Given the description of an element on the screen output the (x, y) to click on. 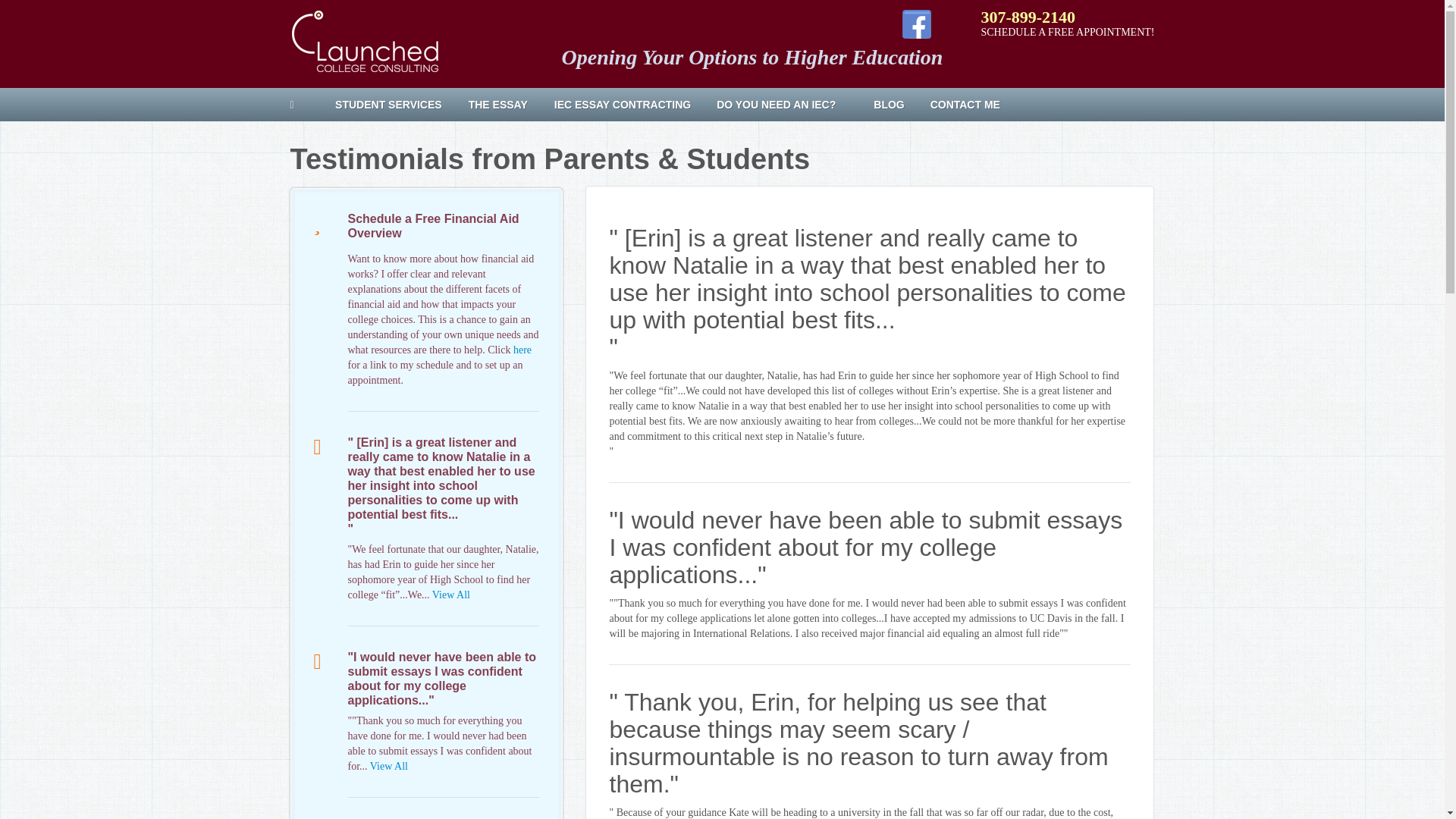
Student Services (393, 104)
STUDENT SERVICES (393, 104)
Student Essay Writing (503, 104)
IEC ESSAY CONTRACTING (627, 104)
View All (388, 766)
DO YOU NEED AN IEC? (787, 104)
Blog News (894, 104)
307-899-2140 (1027, 16)
Essay Coaching (627, 104)
BLOG (894, 104)
CONTACT ME (976, 104)
here (522, 349)
View All (451, 594)
THE ESSAY (503, 104)
